Given the description of an element on the screen output the (x, y) to click on. 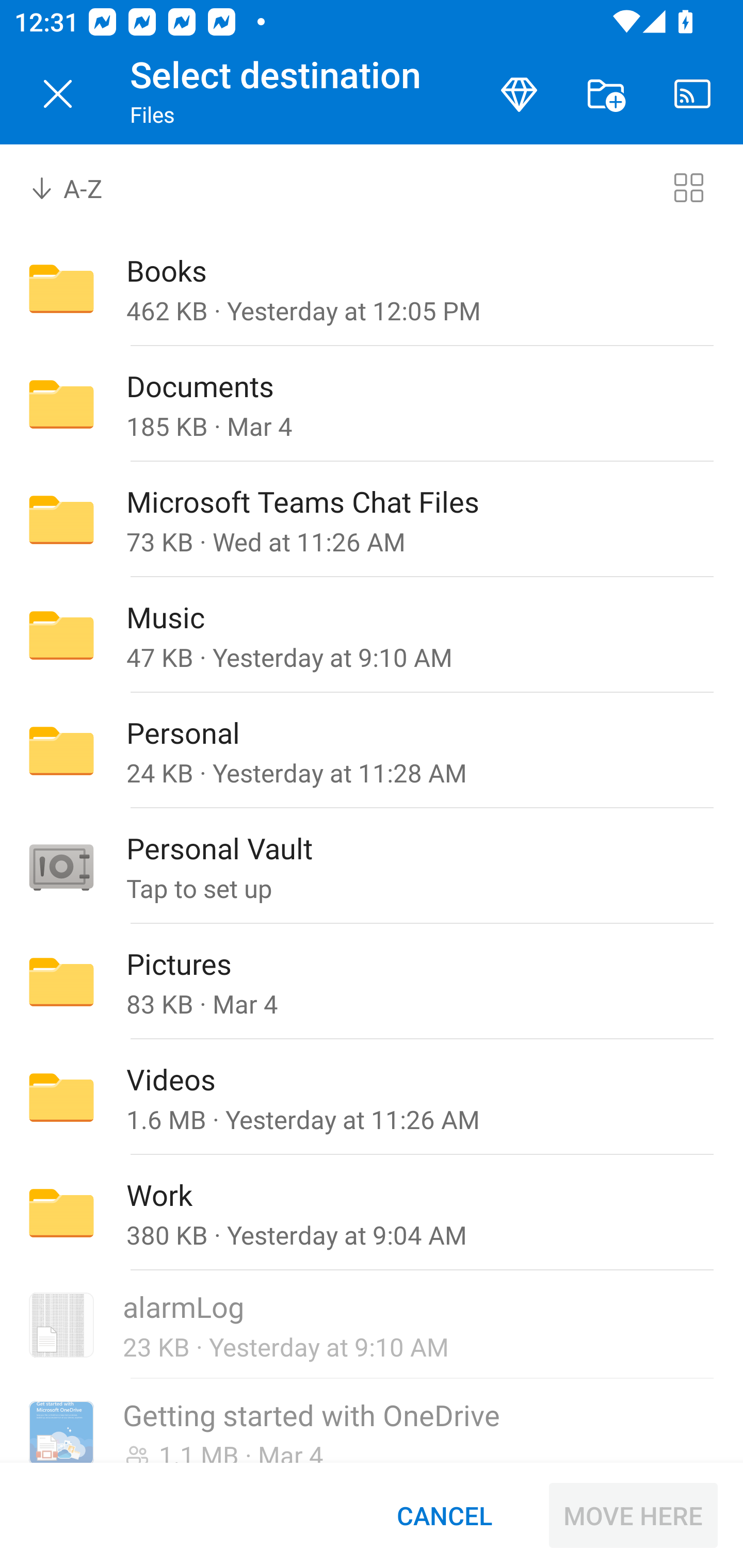
Close (57, 93)
Cast. Disconnected (692, 93)
Premium button (518, 93)
More actions button (605, 93)
A-Z Sort by combo box, sort by name, A to Z (80, 187)
Switch to tiles view (688, 187)
Folder Books 462 KB · Yesterday at 12:05 PM (371, 288)
Folder Documents 185 KB · Mar 4 (371, 404)
Folder Music 47 KB · Yesterday at 9:10 AM (371, 635)
Folder Personal 24 KB · Yesterday at 11:28 AM (371, 751)
Folder Personal Vault Tap to set up (371, 866)
Folder Pictures 83 KB · Mar 4 (371, 981)
Folder Videos 1.6 MB · Yesterday at 11:26 AM (371, 1097)
Folder Work 380 KB · Yesterday at 9:04 AM (371, 1213)
Document alarmLog 23 KB · Yesterday at 9:10 AM (371, 1325)
CANCEL (443, 1515)
MOVE HERE (633, 1515)
